Given the description of an element on the screen output the (x, y) to click on. 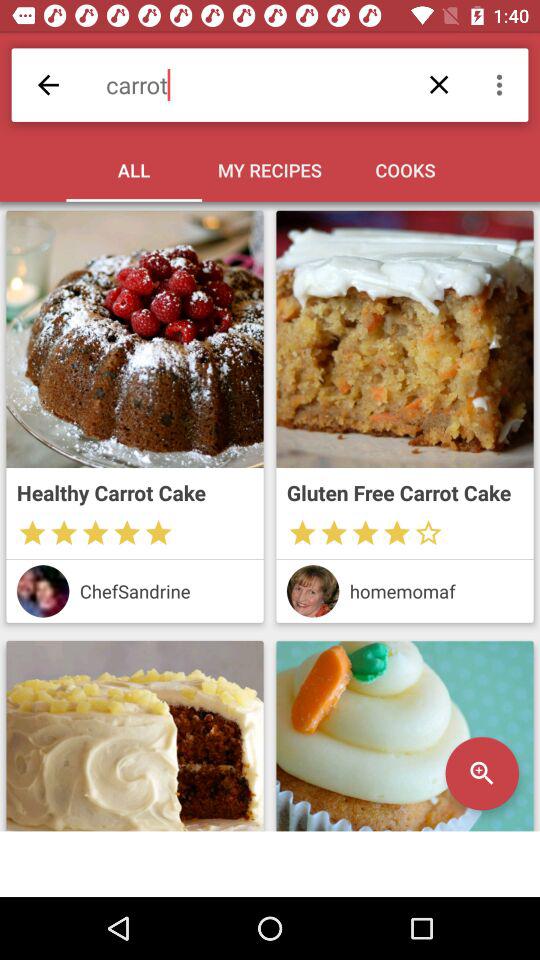
open image (134, 735)
